Given the description of an element on the screen output the (x, y) to click on. 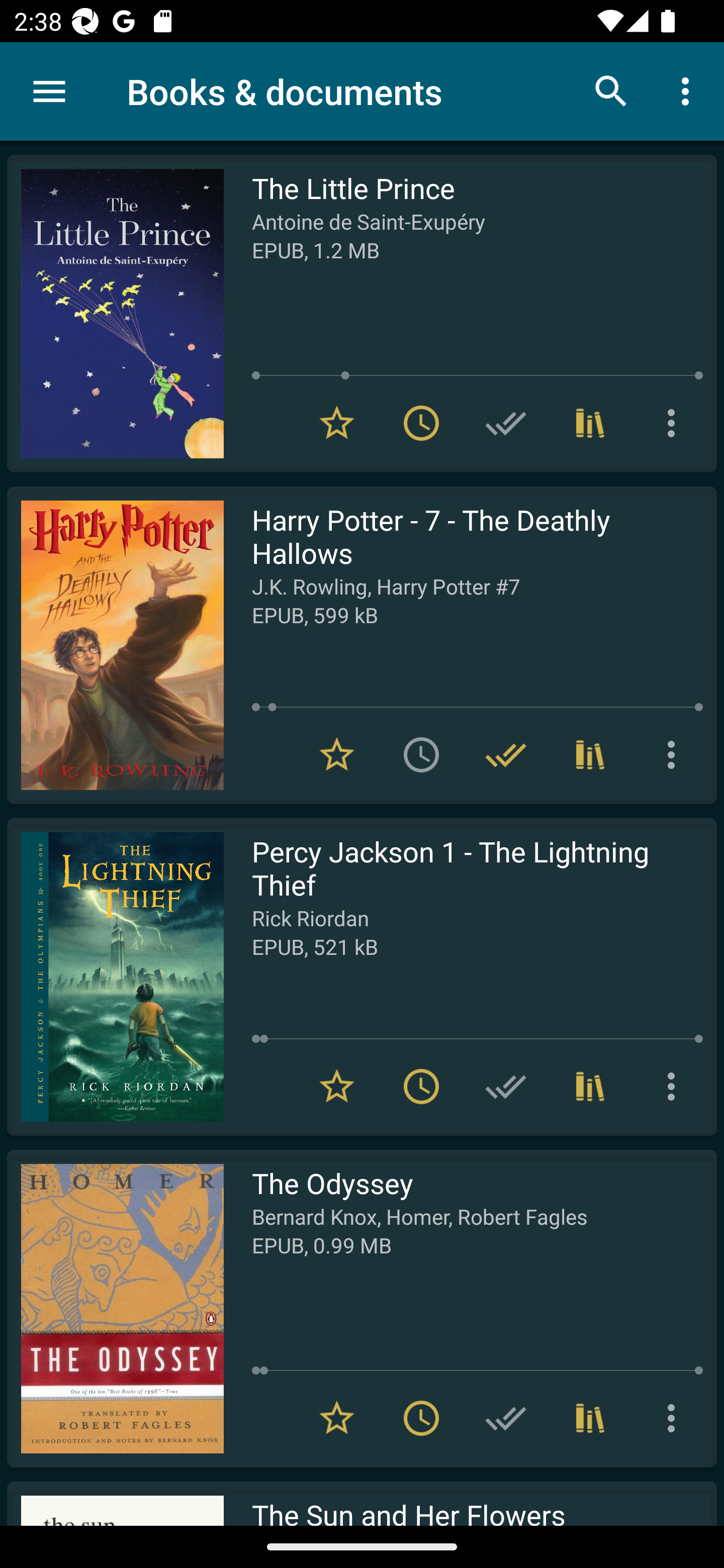
Menu (49, 91)
Search books & documents (611, 90)
More options (688, 90)
Read The Little Prince (115, 313)
Remove from Favorites (336, 423)
Remove from To read (421, 423)
Add to Have read (505, 423)
Collections (1) (590, 423)
More options (674, 423)
Read Harry Potter - 7 - The Deathly Hallows (115, 645)
Remove from Favorites (336, 753)
Add to To read (421, 753)
Remove from Have read (505, 753)
Collections (3) (590, 753)
More options (674, 753)
Read Percy Jackson 1 - The Lightning Thief (115, 976)
Remove from Favorites (336, 1086)
Remove from To read (421, 1086)
Add to Have read (505, 1086)
Collections (1) (590, 1086)
More options (674, 1086)
Read The Odyssey (115, 1308)
Remove from Favorites (336, 1417)
Remove from To read (421, 1417)
Add to Have read (505, 1417)
Collections (3) (590, 1417)
More options (674, 1417)
